Given the description of an element on the screen output the (x, y) to click on. 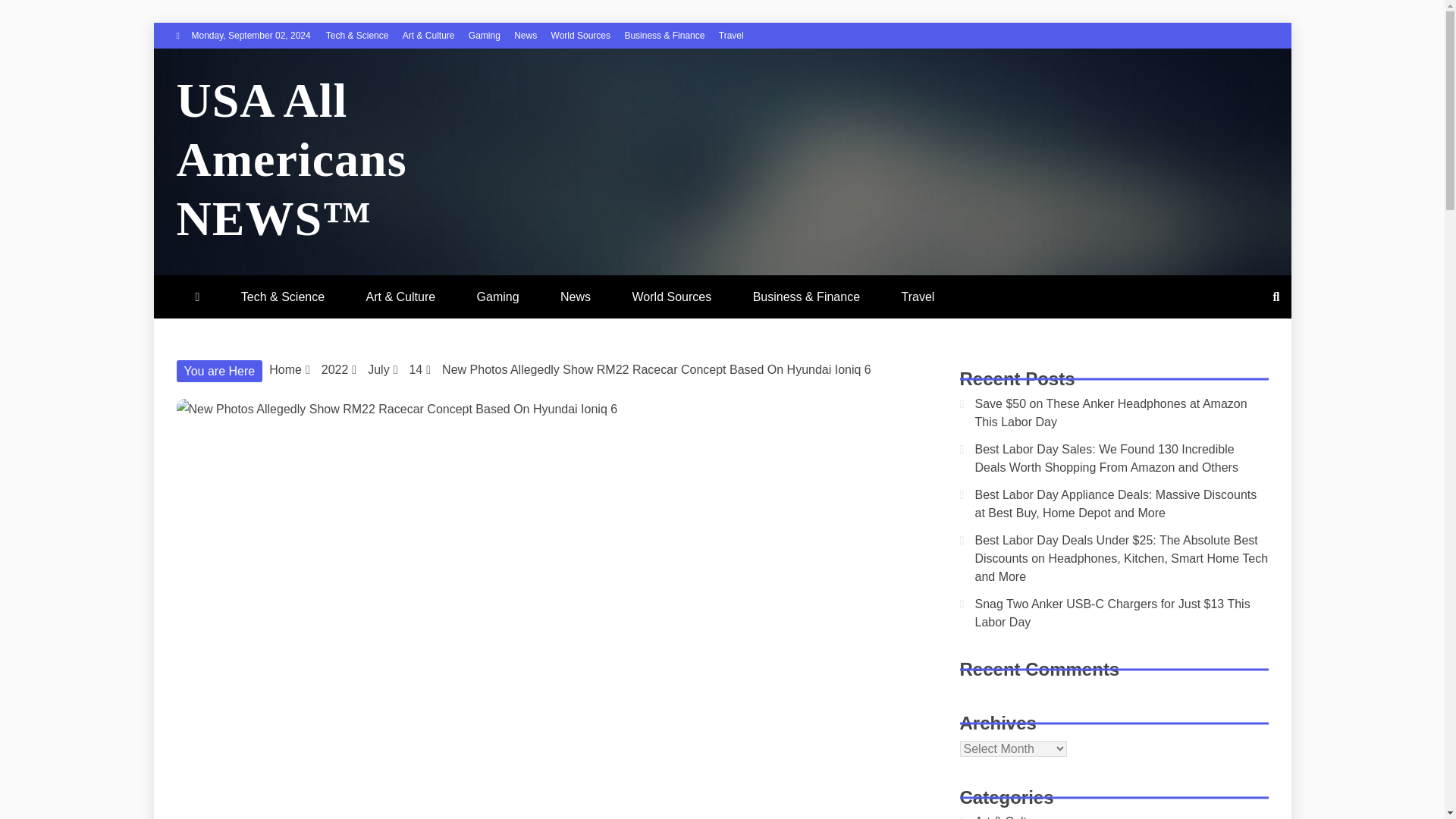
Gaming (497, 296)
Gaming (484, 35)
Home (285, 369)
News (525, 35)
2022 (335, 369)
Travel (731, 35)
July (378, 369)
World Sources (580, 35)
World Sources (672, 296)
